Given the description of an element on the screen output the (x, y) to click on. 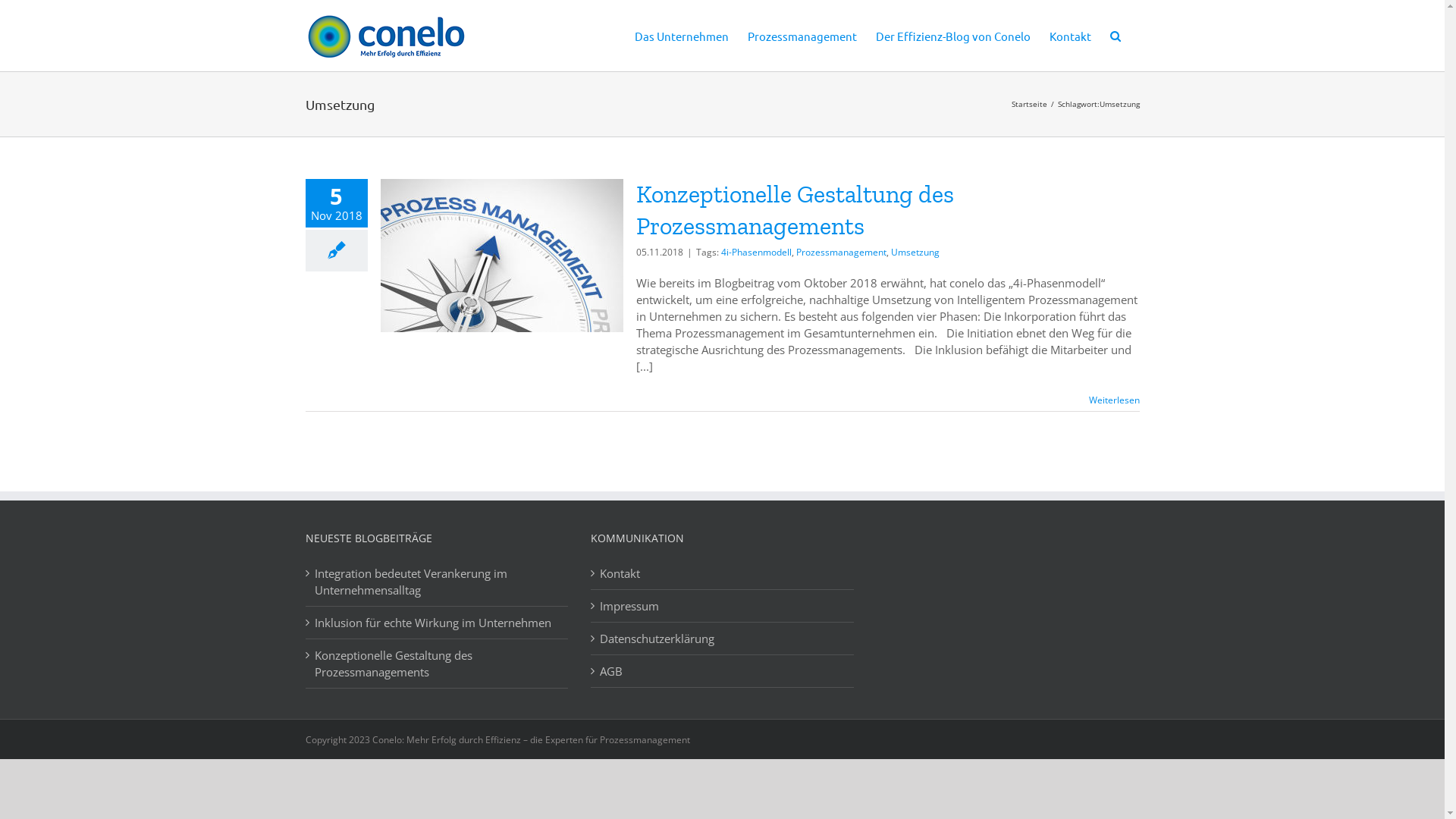
Konzeptionelle Gestaltung des Prozessmanagements Element type: text (436, 663)
Der Effizienz-Blog von Conelo Element type: text (952, 34)
4i-Phasenmodell Element type: text (755, 251)
Das Unternehmen Element type: text (680, 34)
Startseite Element type: text (1029, 103)
Kontakt Element type: text (722, 572)
Prozessmanagement Element type: text (801, 34)
Integration bedeutet Verankerung im Unternehmensalltag Element type: text (436, 581)
Prozessmanagement Element type: text (841, 251)
Umsetzung Element type: text (914, 251)
AGB Element type: text (722, 670)
Weiterlesen Element type: text (1113, 399)
Suche Element type: hover (1115, 34)
Kontakt Element type: text (1070, 34)
Konzeptionelle Gestaltung des Prozessmanagements Element type: text (794, 209)
Impressum Element type: text (722, 605)
